Given the description of an element on the screen output the (x, y) to click on. 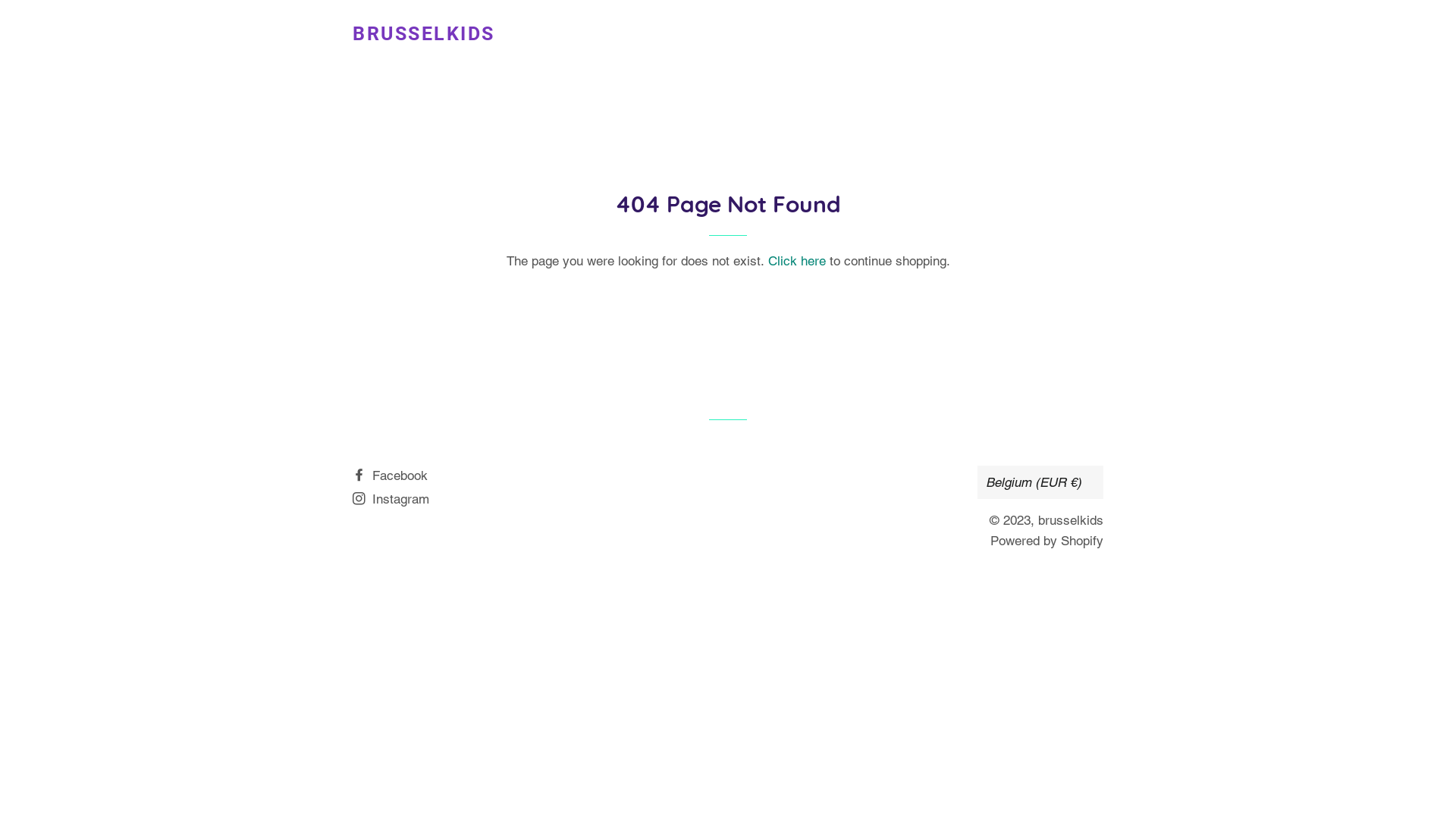
BRUSSELKIDS Element type: text (423, 33)
Facebook Element type: text (389, 475)
Instagram Element type: text (390, 498)
brusselkids Element type: text (1070, 519)
Powered by Shopify Element type: text (1046, 540)
Click here Element type: text (796, 260)
